Given the description of an element on the screen output the (x, y) to click on. 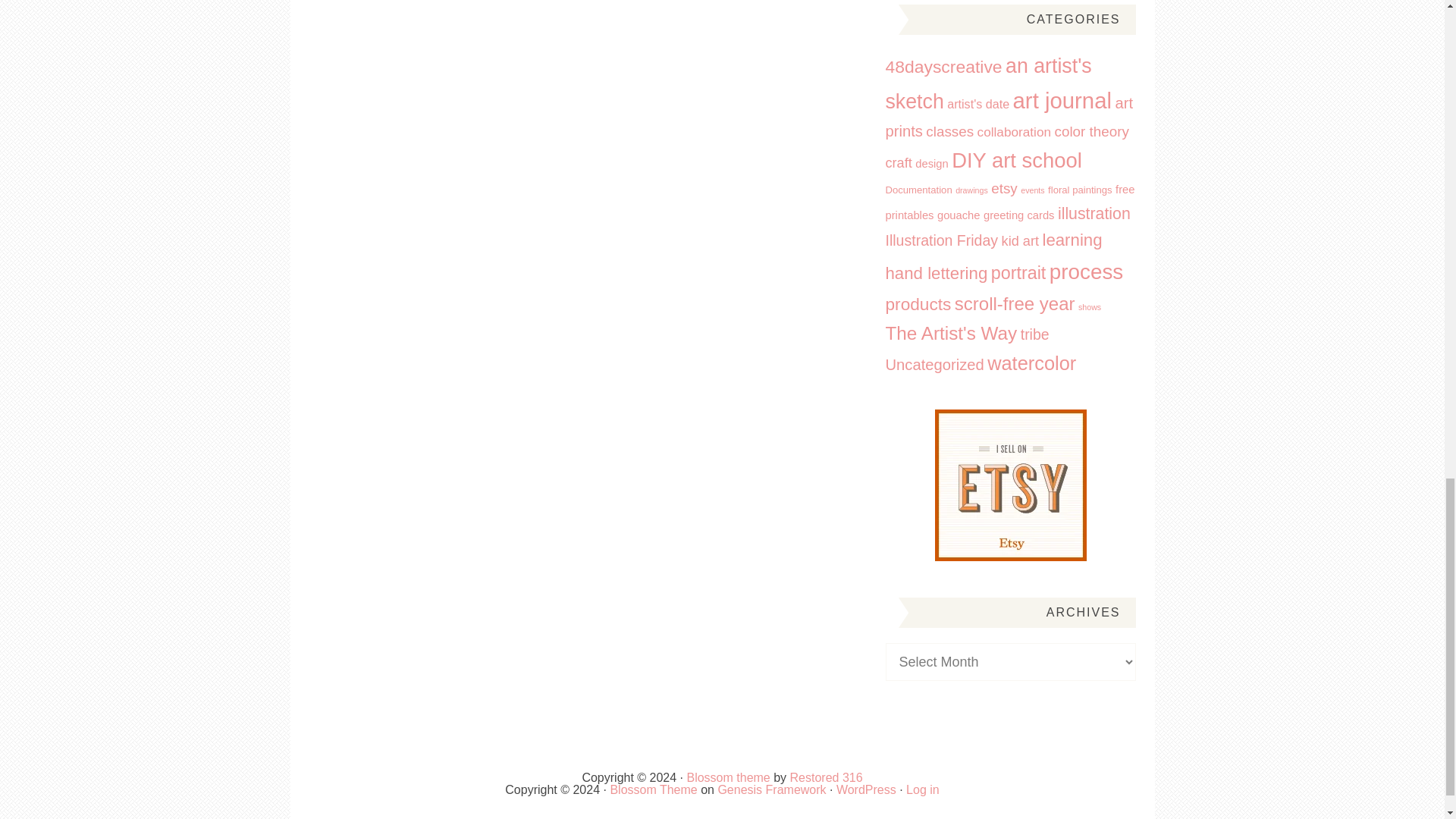
drawings (971, 189)
design (931, 163)
classes (950, 131)
color theory (1091, 131)
48dayscreative (944, 66)
art journal (1062, 100)
etsy (1004, 188)
collaboration (1013, 131)
Documentation (918, 189)
artist's date (978, 103)
floral paintings (1080, 189)
DIY art school (1016, 159)
art prints (1009, 117)
an artist's sketch (988, 83)
events (1031, 189)
